Given the description of an element on the screen output the (x, y) to click on. 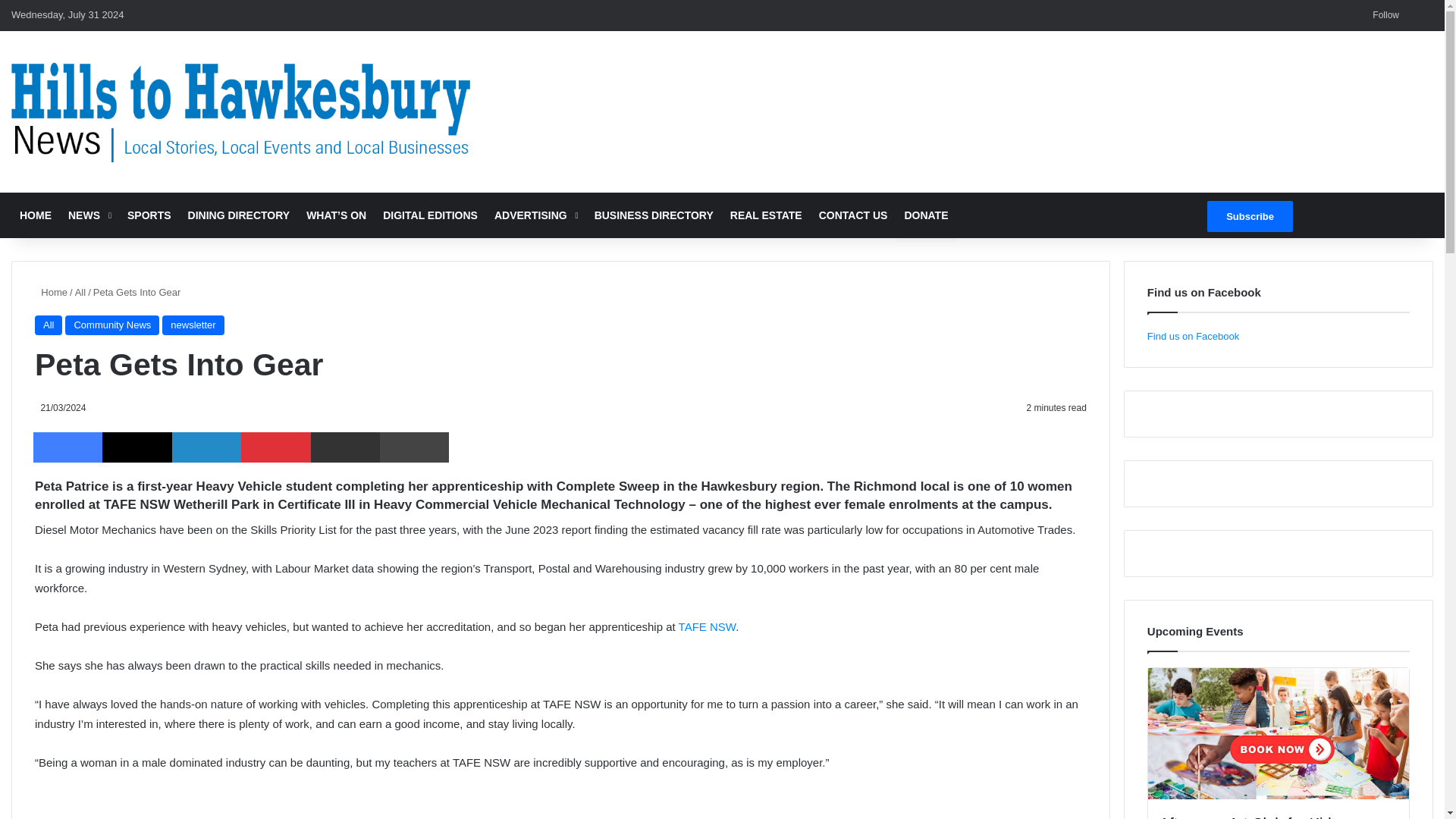
ADVERTISING (536, 215)
Hills to Hawkesbury News (240, 111)
LinkedIn (206, 447)
NEWS (89, 215)
Follow (1382, 15)
Facebook (67, 447)
HOME (35, 215)
Subscribe (1249, 215)
DIGITAL EDITIONS (430, 215)
SPORTS (149, 215)
Pinterest (275, 447)
DINING DIRECTORY (238, 215)
REAL ESTATE (766, 215)
X (136, 447)
BUSINESS DIRECTORY (654, 215)
